Given the description of an element on the screen output the (x, y) to click on. 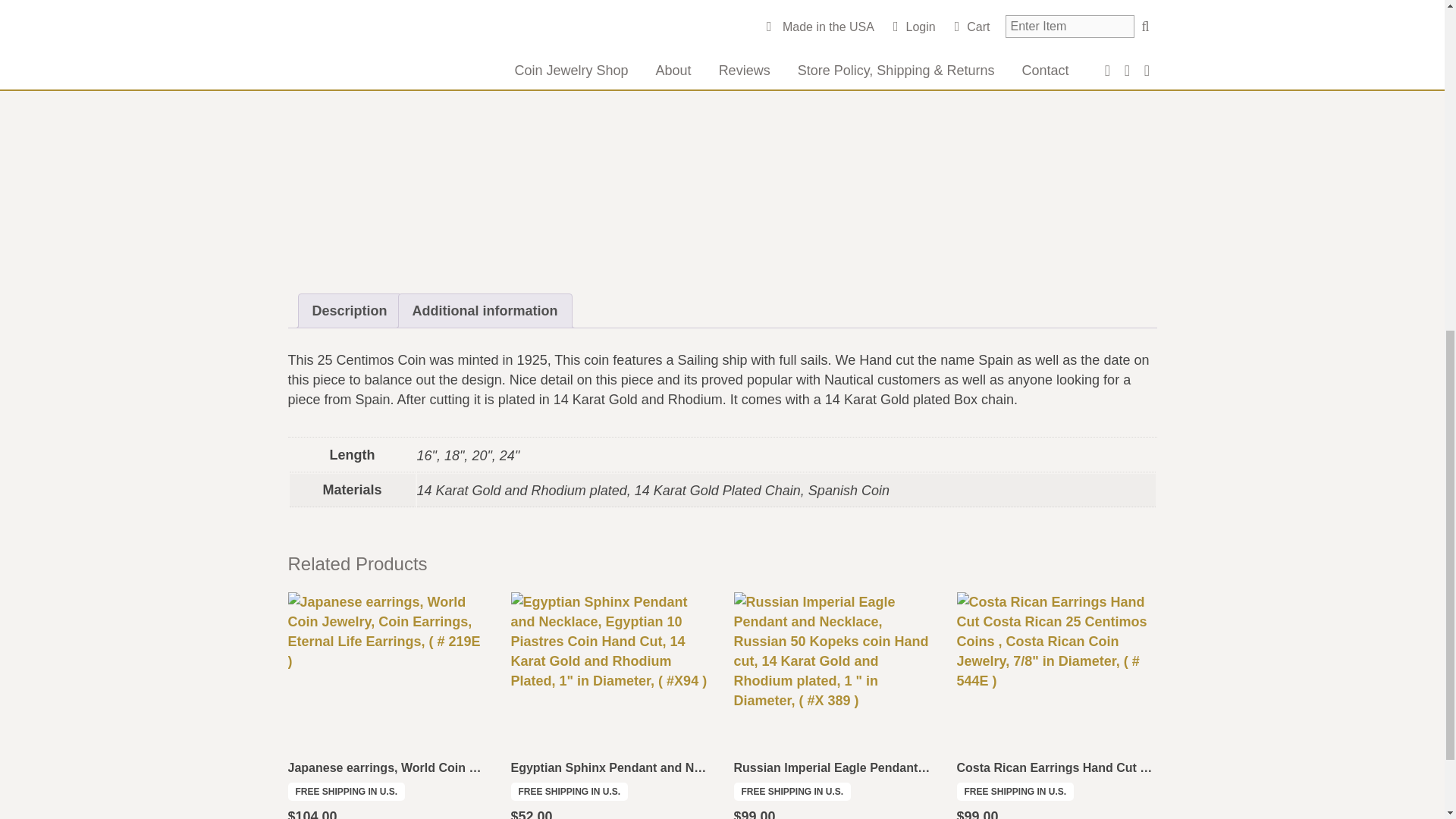
Spanish Jewelry (710, 15)
nautical (794, 2)
Spanish Coin (1107, 2)
sailboat (844, 2)
Coin Jewelry (732, 2)
Spanish Necklace (810, 15)
Spain Coin Jewelry (923, 2)
Spain Necklace (1023, 2)
